Given the description of an element on the screen output the (x, y) to click on. 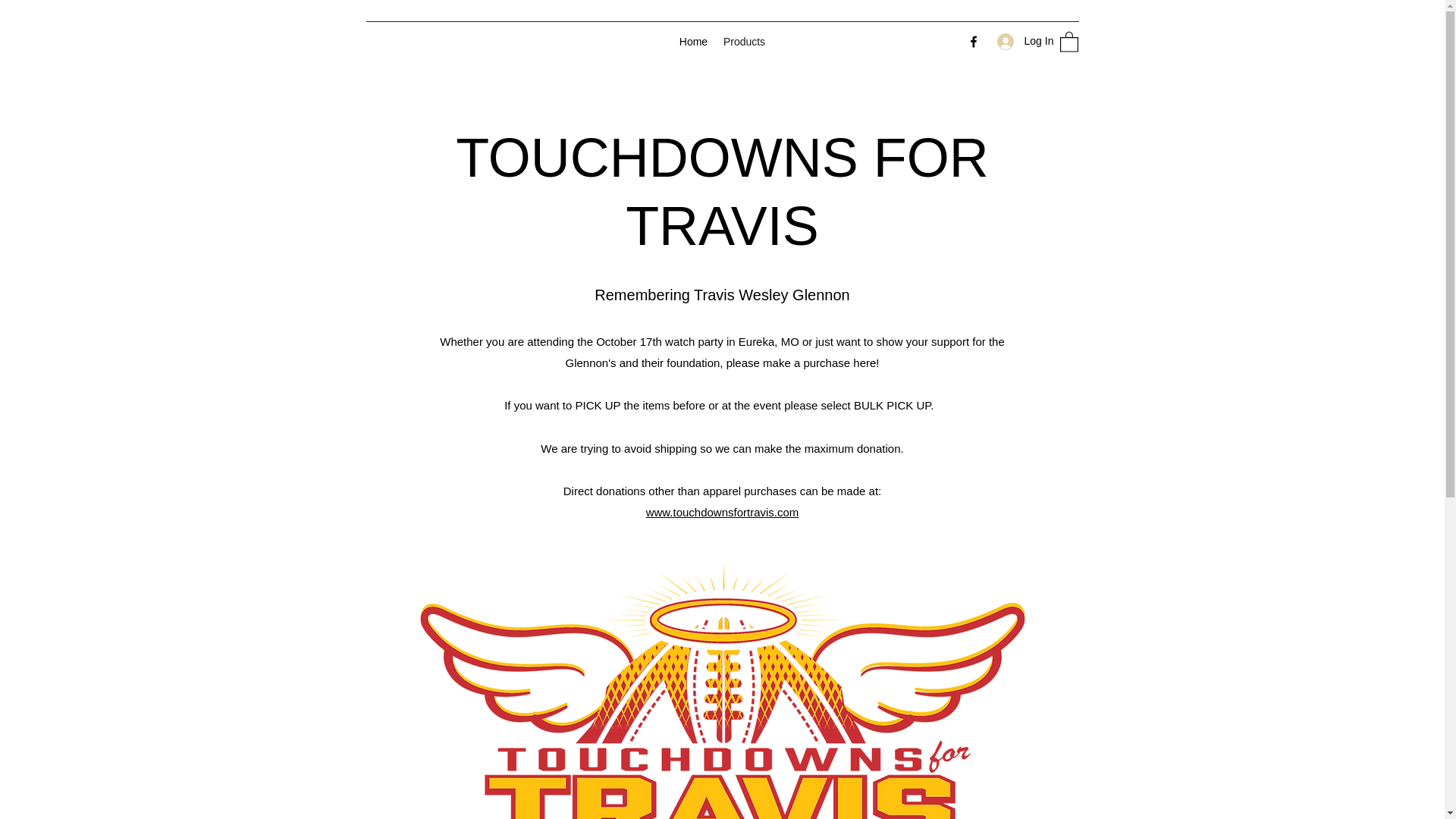
Home (693, 41)
Log In (1019, 41)
Products (744, 41)
www.touchdownsfortravis.com (722, 512)
